Given the description of an element on the screen output the (x, y) to click on. 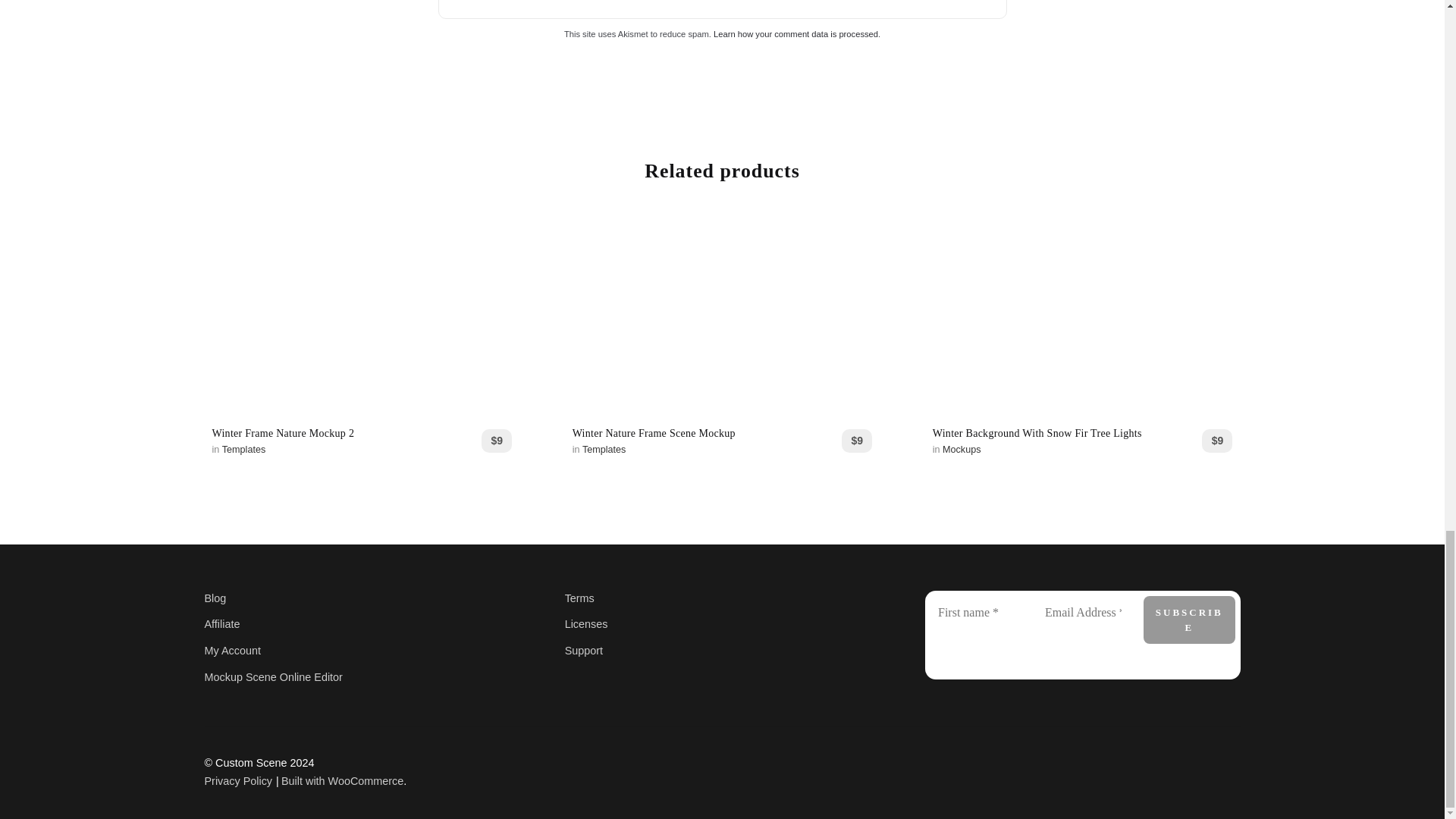
Email Address (1082, 612)
Subscribe (1188, 619)
First name (976, 612)
WooCommerce - The Best eCommerce Platform for WordPress (342, 780)
